Given the description of an element on the screen output the (x, y) to click on. 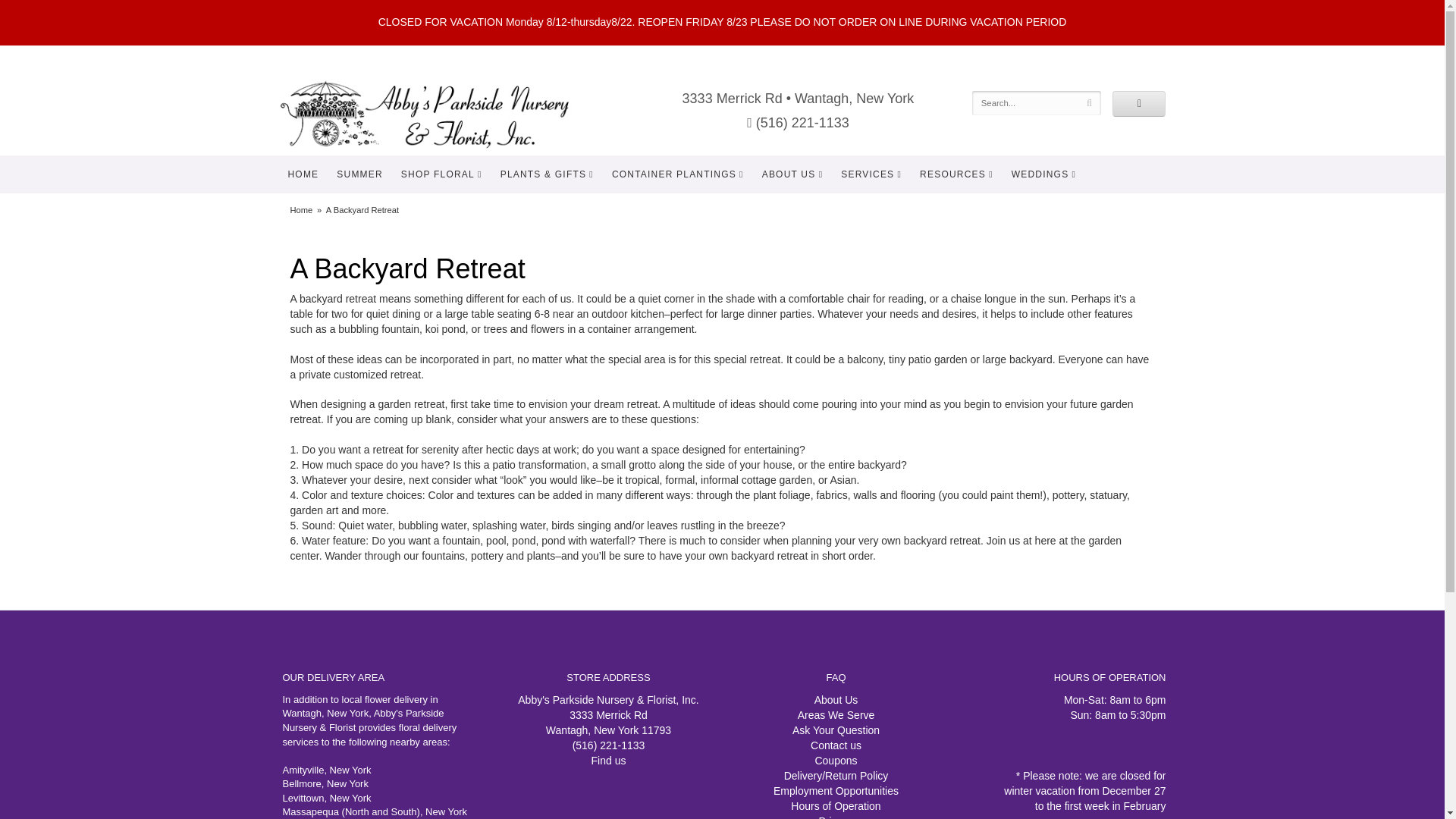
Areas We Serve (836, 715)
Find us (608, 760)
HOME (304, 174)
SUMMER (359, 174)
About Us (836, 699)
WEDDINGS (1043, 174)
SERVICES (871, 174)
SHOP FLORAL (441, 174)
ABOUT US (792, 174)
CONTAINER PLANTINGS (677, 174)
